Given the description of an element on the screen output the (x, y) to click on. 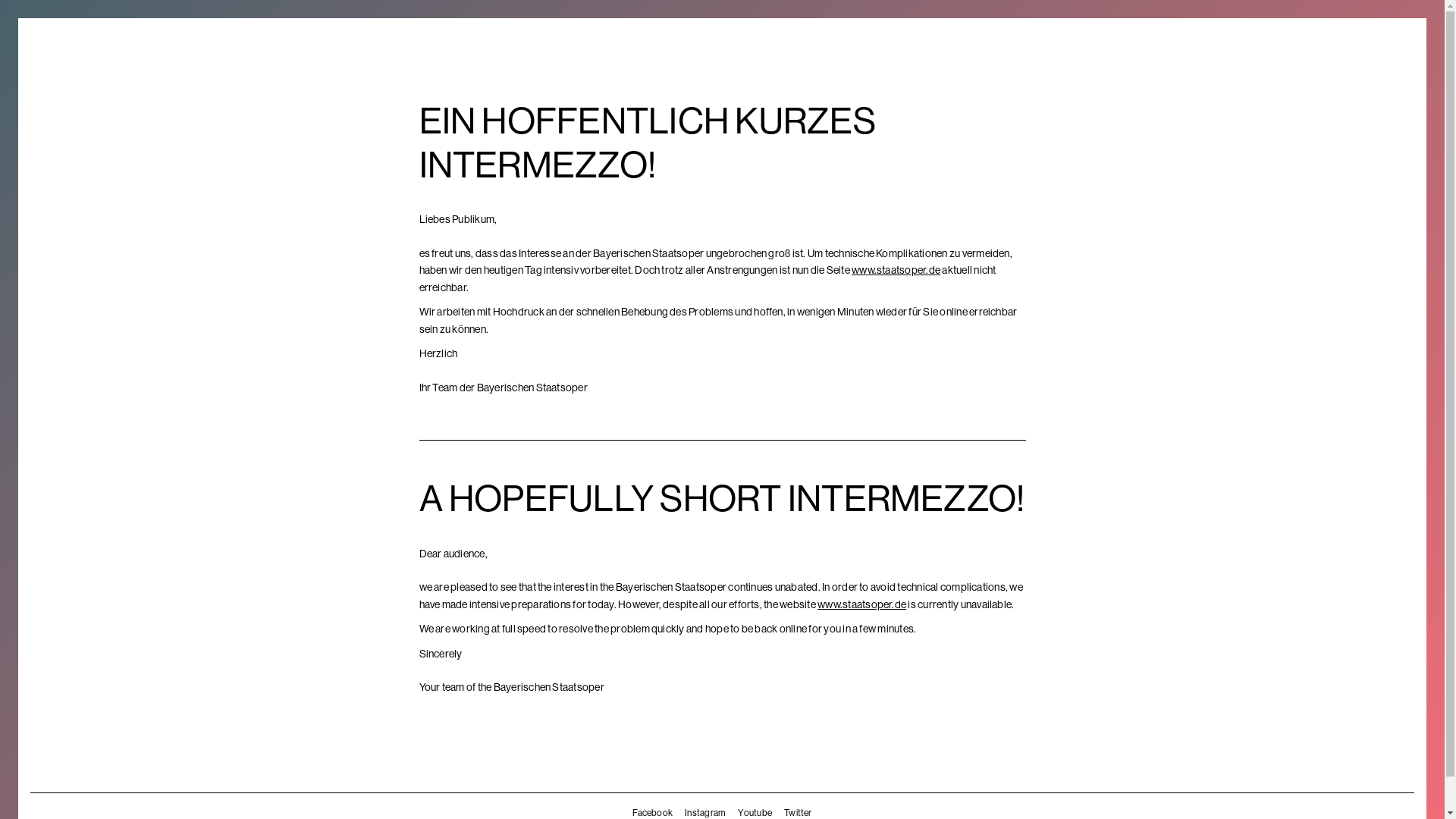
www.staatsoper.de (860, 604)
Youtube (754, 812)
www.staatsoper.de (895, 269)
Facebook (651, 812)
Twitter (798, 812)
Instagram (704, 812)
